Given the description of an element on the screen output the (x, y) to click on. 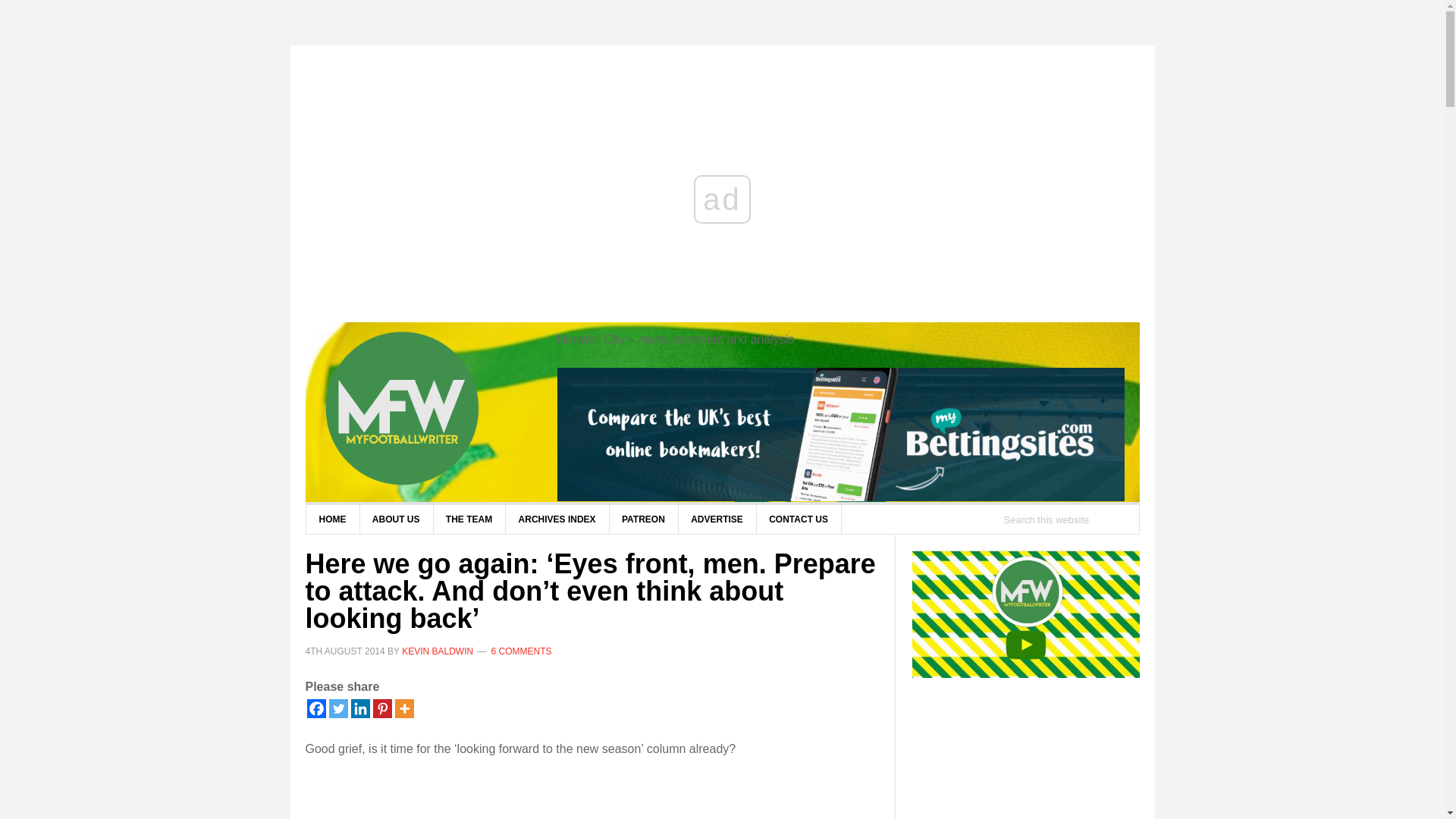
HOME (332, 519)
KEVIN BALDWIN (437, 651)
Pinterest (381, 708)
Linkedin (359, 708)
THE TEAM (468, 519)
ARCHIVES INDEX (557, 519)
CONTACT US (798, 519)
MY FOOTBALL WRITER (426, 409)
PATREON (643, 519)
Twitter (338, 708)
ADVERTISE (717, 519)
More (403, 708)
6 COMMENTS (521, 651)
ABOUT US (396, 519)
